Given the description of an element on the screen output the (x, y) to click on. 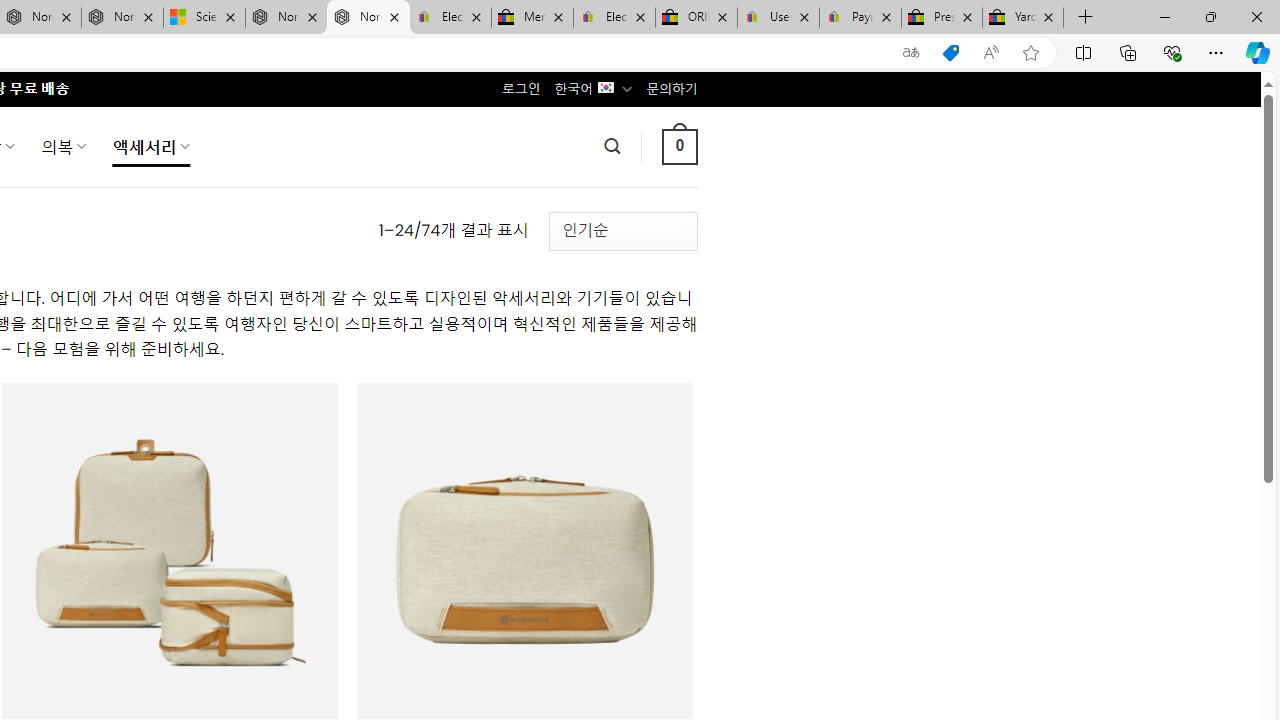
This site has coupons! Shopping in Microsoft Edge (950, 53)
 0  (679, 146)
Press Room - eBay Inc. (941, 17)
Show translate options (910, 53)
